Given the description of an element on the screen output the (x, y) to click on. 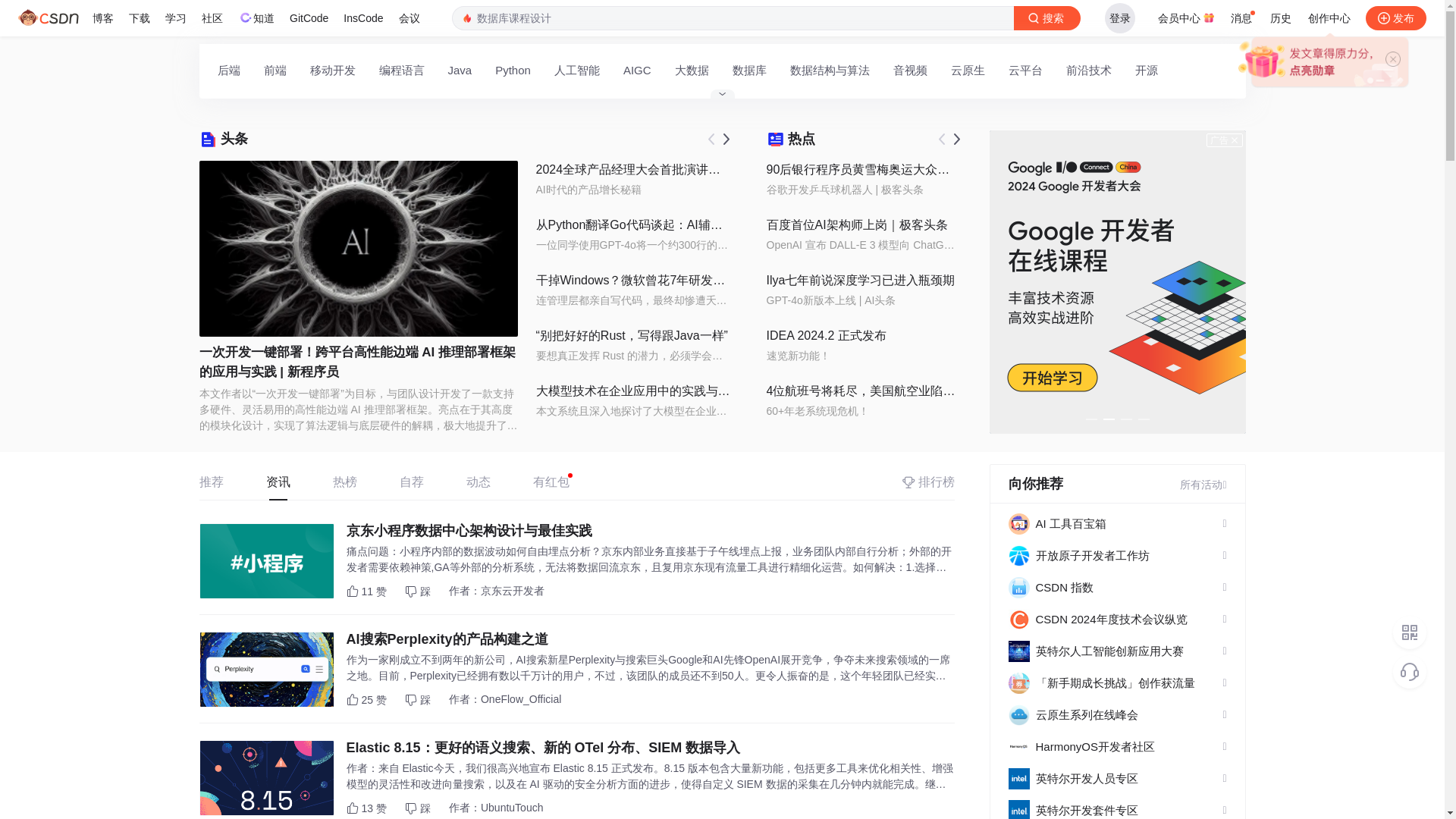
AIGC (636, 69)
Java (458, 69)
GitCode (309, 18)
Python (513, 69)
InsCode (363, 18)
